Given the description of an element on the screen output the (x, y) to click on. 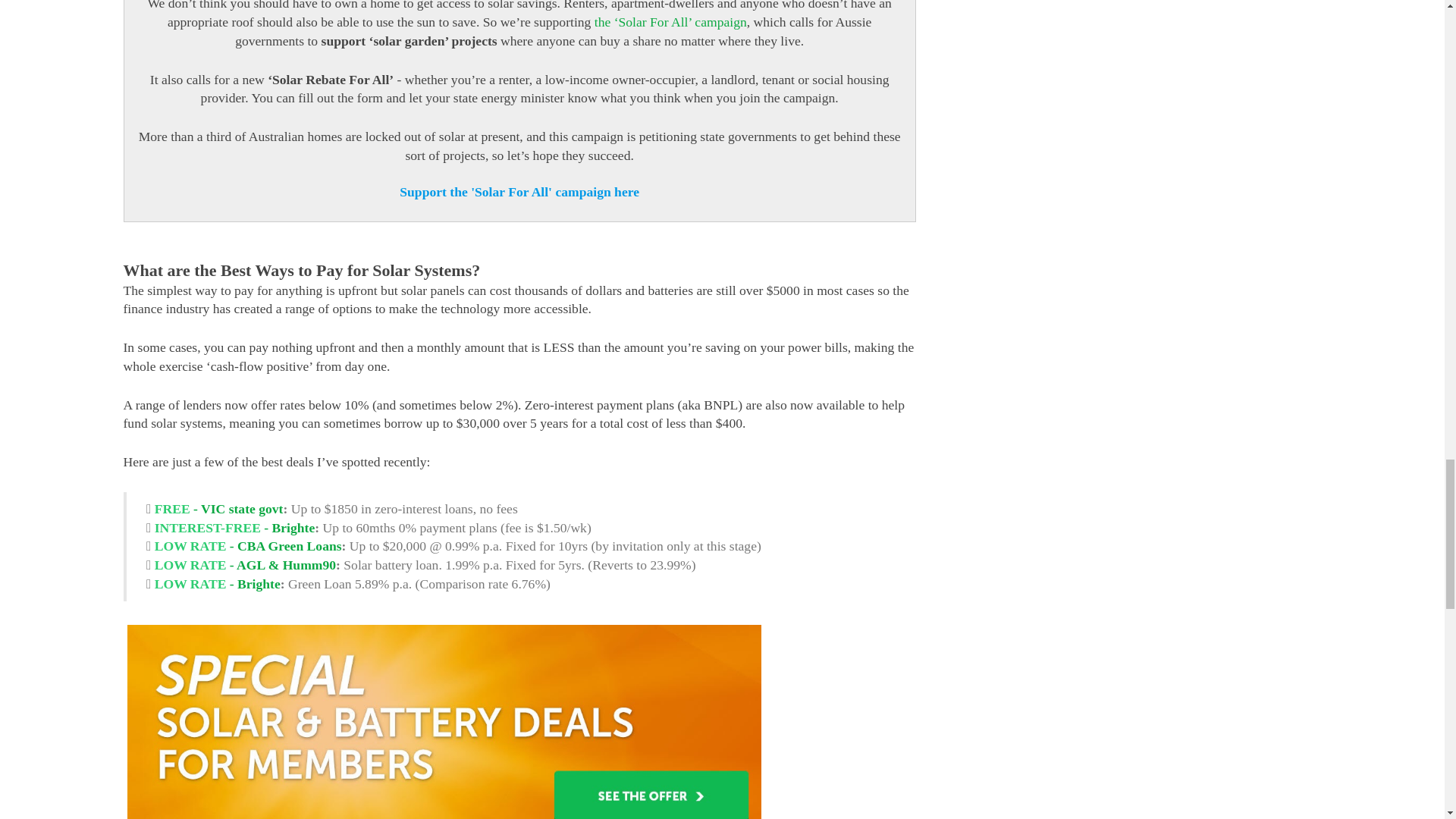
INTEREST-FREE - Brighte (234, 527)
FREE - VIC state govt (218, 508)
LOW RATE - CBA Green Loans (248, 545)
Support the 'Solar For All' campaign here (518, 191)
LOW RATE - Brighte (217, 583)
